Given the description of an element on the screen output the (x, y) to click on. 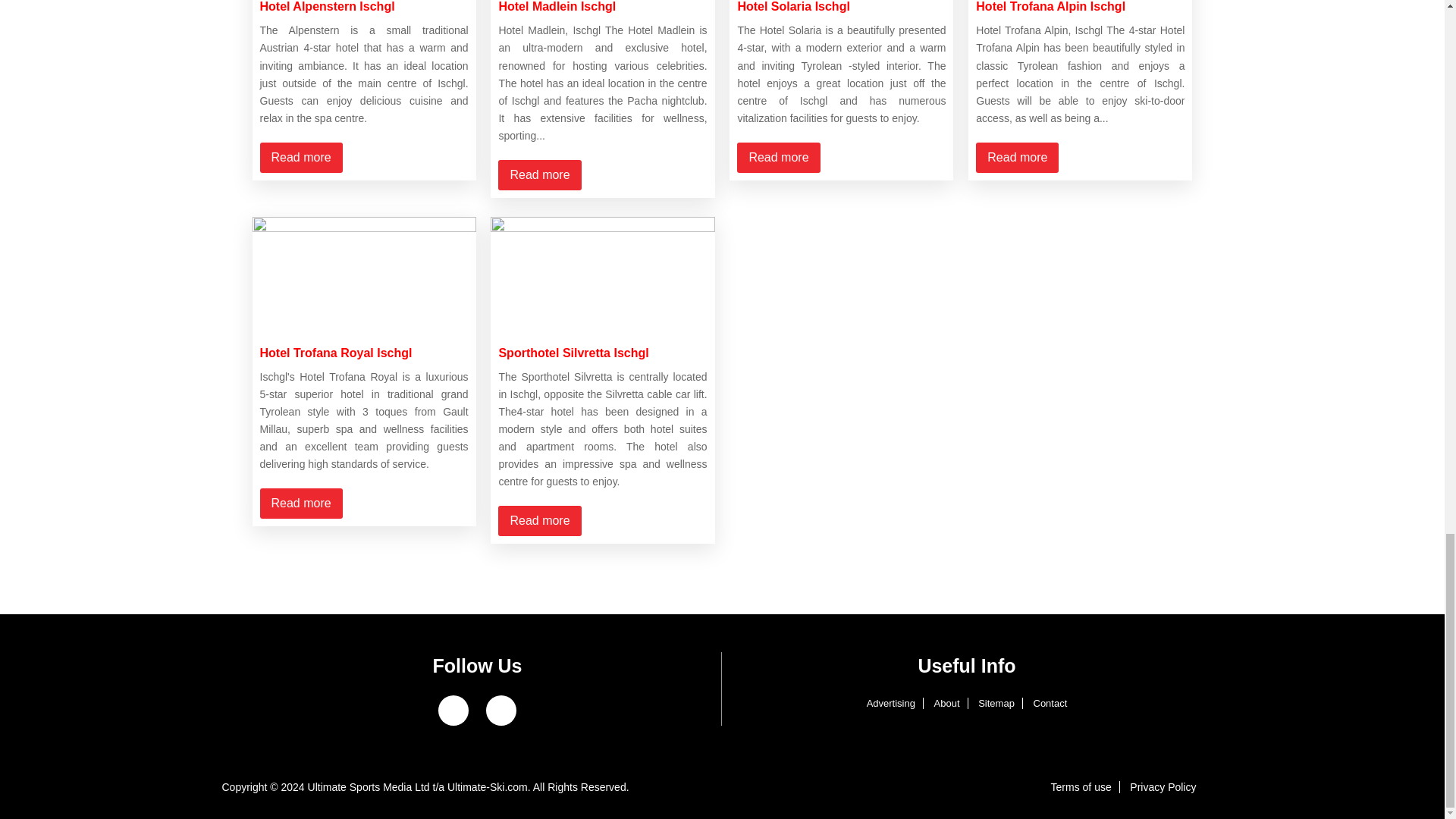
Hotel Madlein Ischgl (556, 6)
Read more (300, 157)
Hotel Alpenstern Ischgl (326, 6)
